Given the description of an element on the screen output the (x, y) to click on. 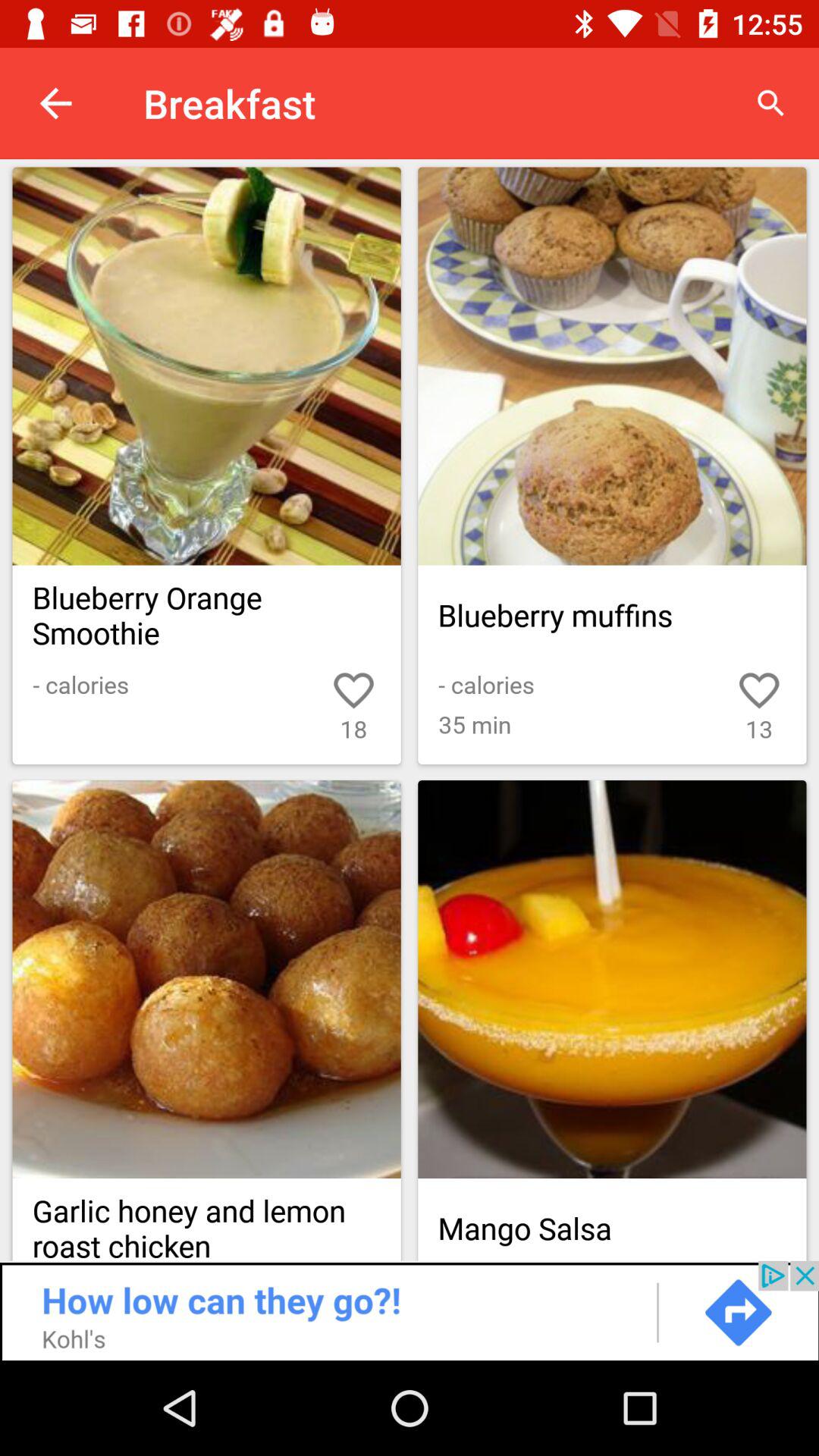
view advertisement (409, 1310)
